Given the description of an element on the screen output the (x, y) to click on. 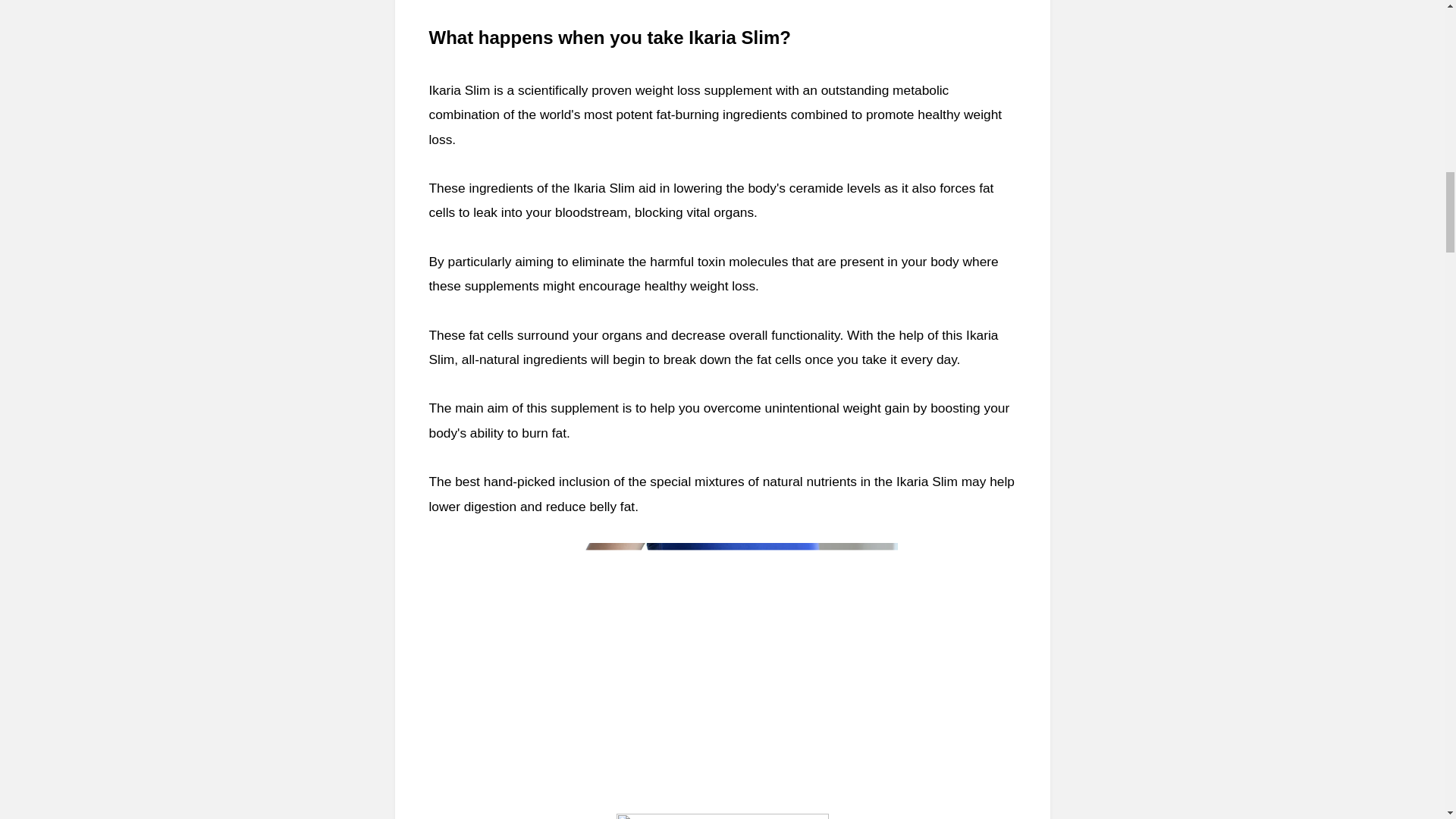
weight loss supplement (701, 89)
